Given the description of an element on the screen output the (x, y) to click on. 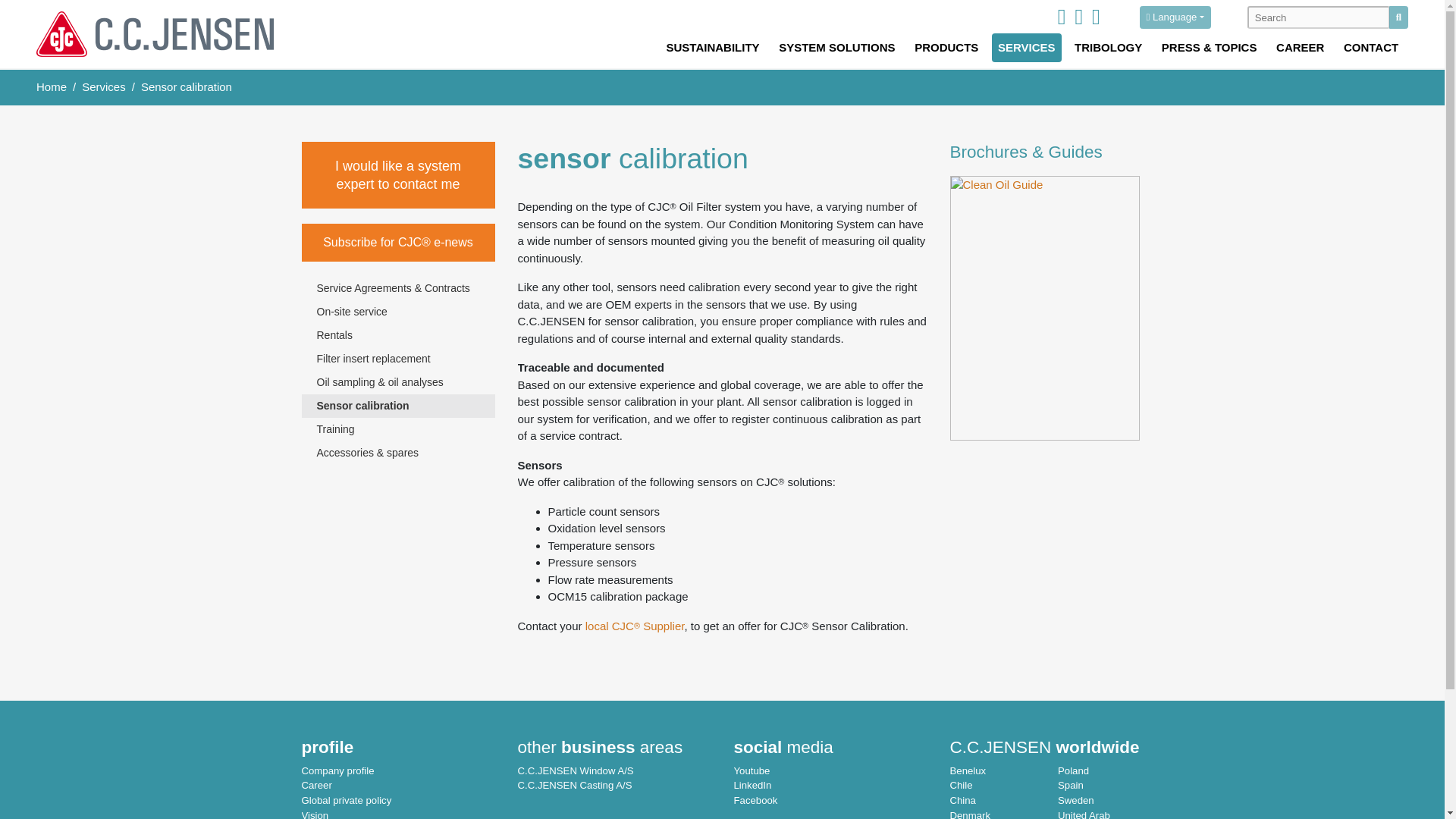
Language (1175, 16)
Sustainability (713, 48)
SUSTAINABILITY (713, 48)
System solutions (837, 48)
SYSTEM SOLUTIONS (837, 48)
